Given the description of an element on the screen output the (x, y) to click on. 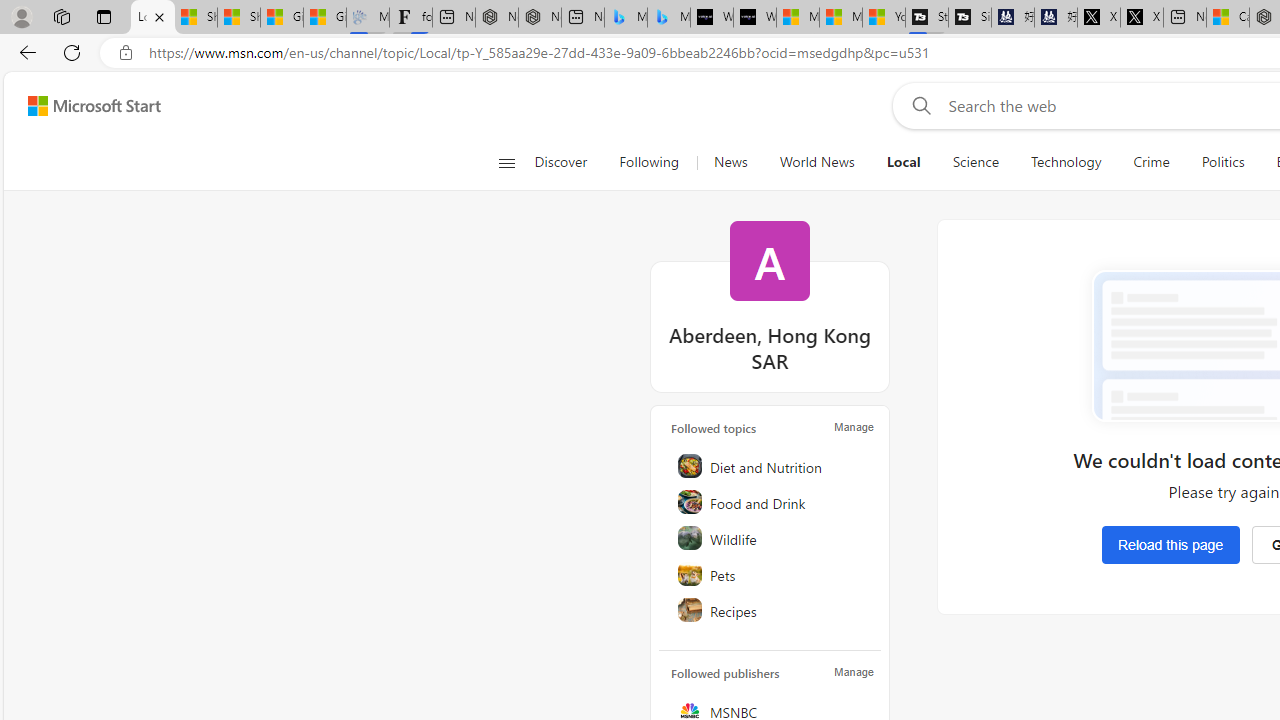
Food and Drink (771, 501)
Politics (1222, 162)
Streaming Coverage | T3 (927, 17)
Politics (1222, 162)
Local - MSN (152, 17)
Crime (1150, 162)
Microsoft Bing Travel - Shangri-La Hotel Bangkok (668, 17)
Recipes (771, 609)
Web search (917, 105)
Science (975, 162)
